Given the description of an element on the screen output the (x, y) to click on. 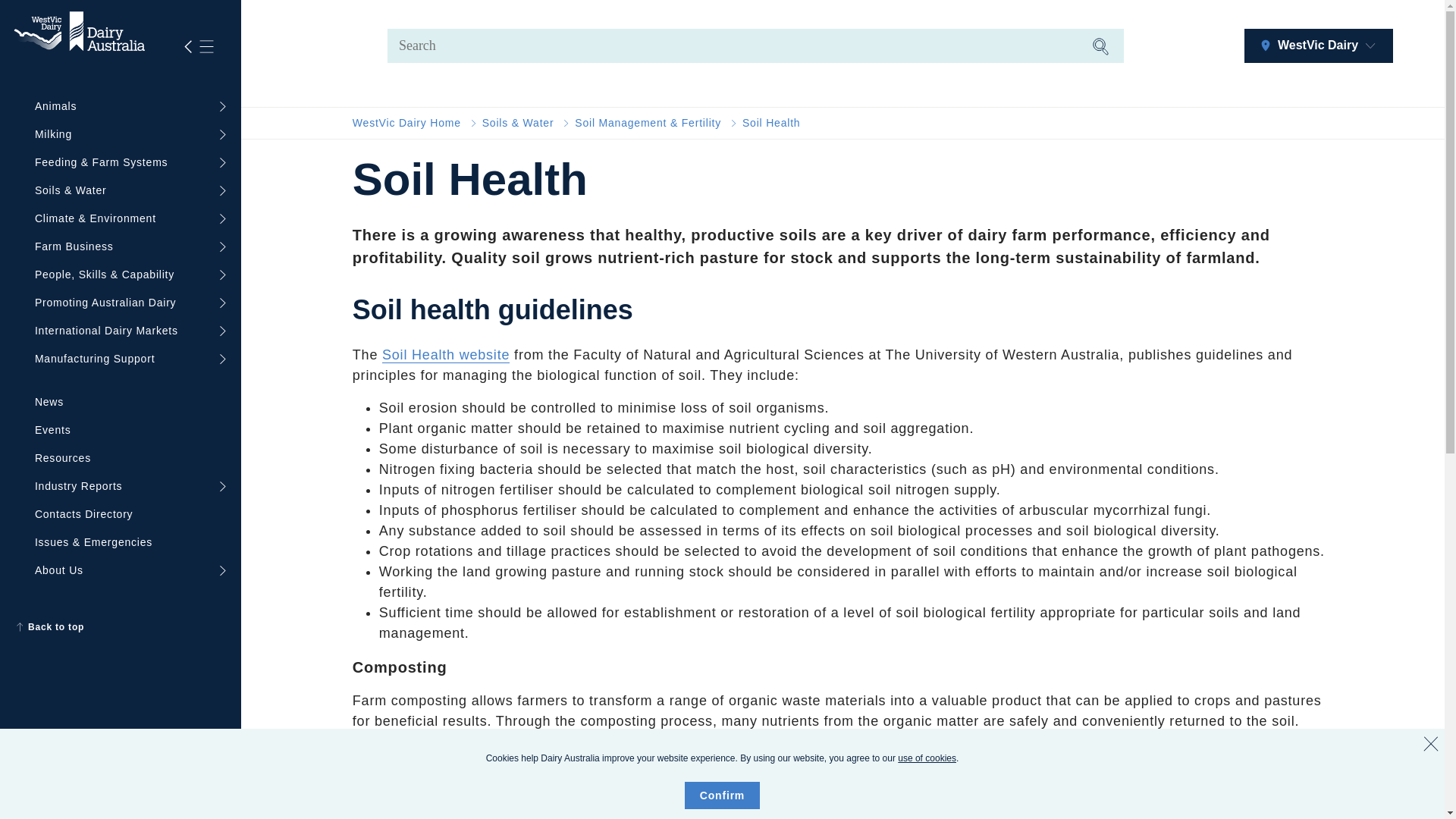
Home (406, 122)
Soil Management and Fertility (647, 122)
Milking (126, 134)
Soils and Water (517, 122)
Animals (126, 106)
Soil Health (771, 122)
